Given the description of an element on the screen output the (x, y) to click on. 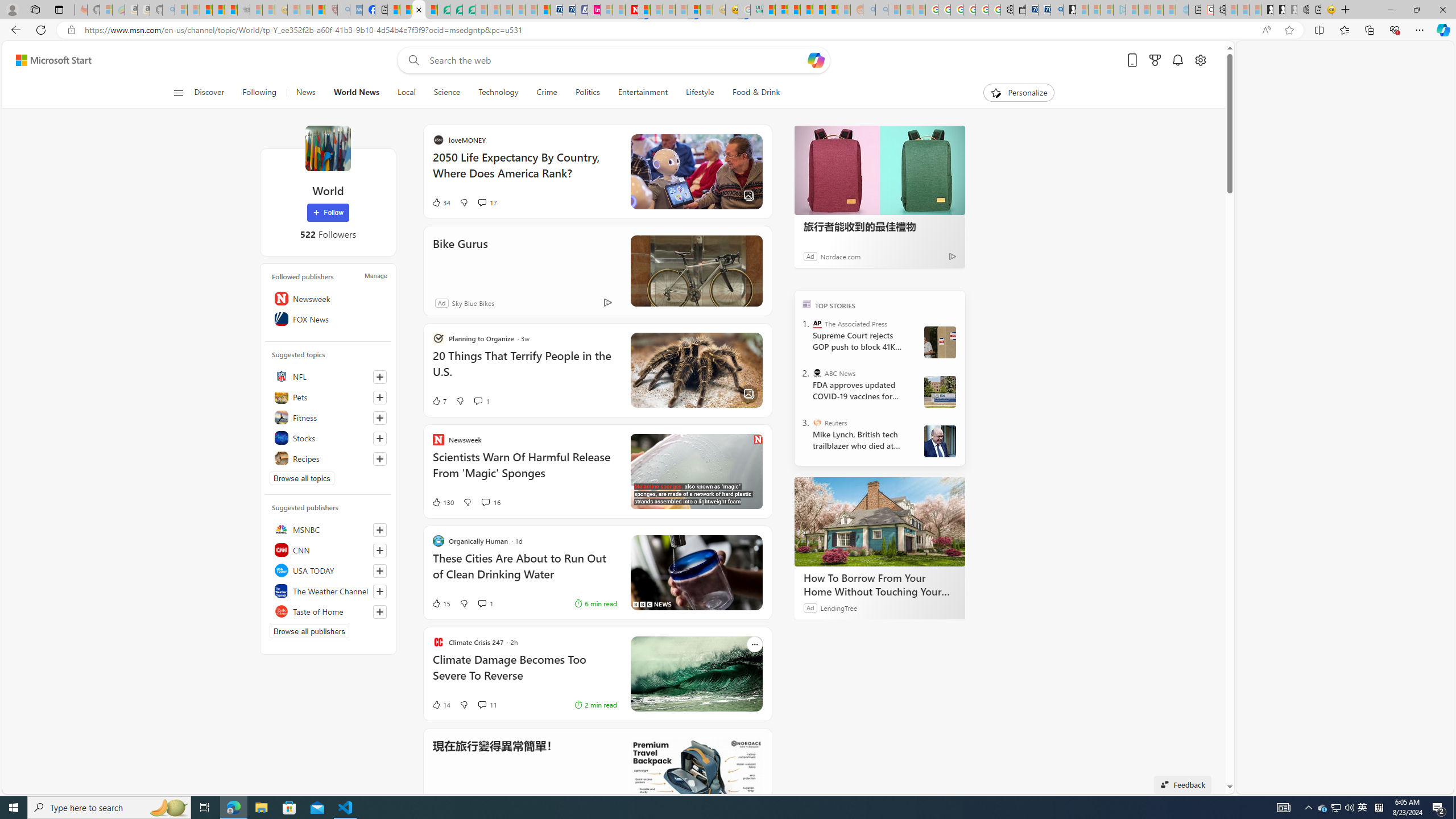
Cheap Hotels - Save70.com (568, 9)
